Given the description of an element on the screen output the (x, y) to click on. 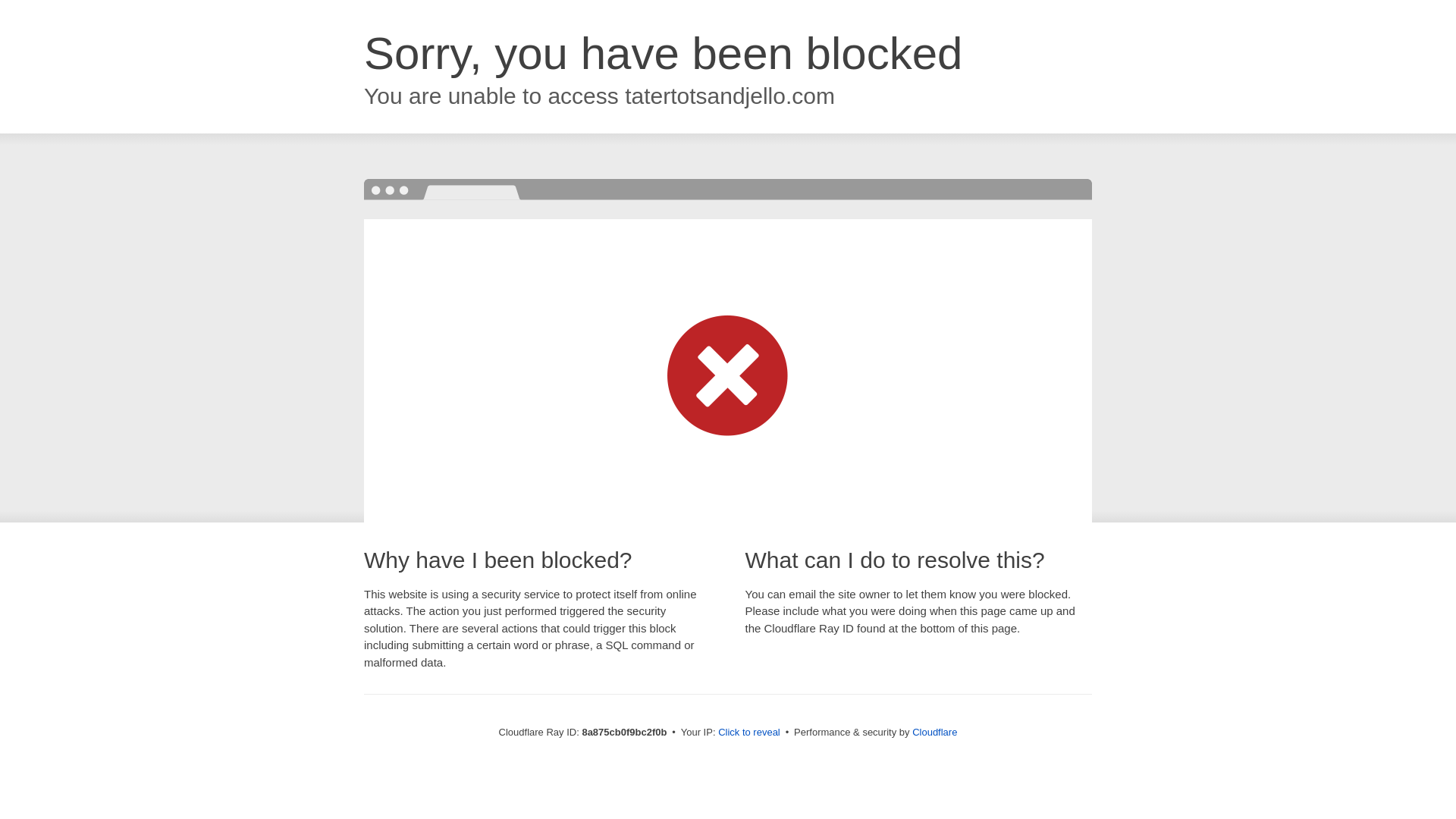
Click to reveal (748, 732)
Cloudflare (934, 731)
